Given the description of an element on the screen output the (x, y) to click on. 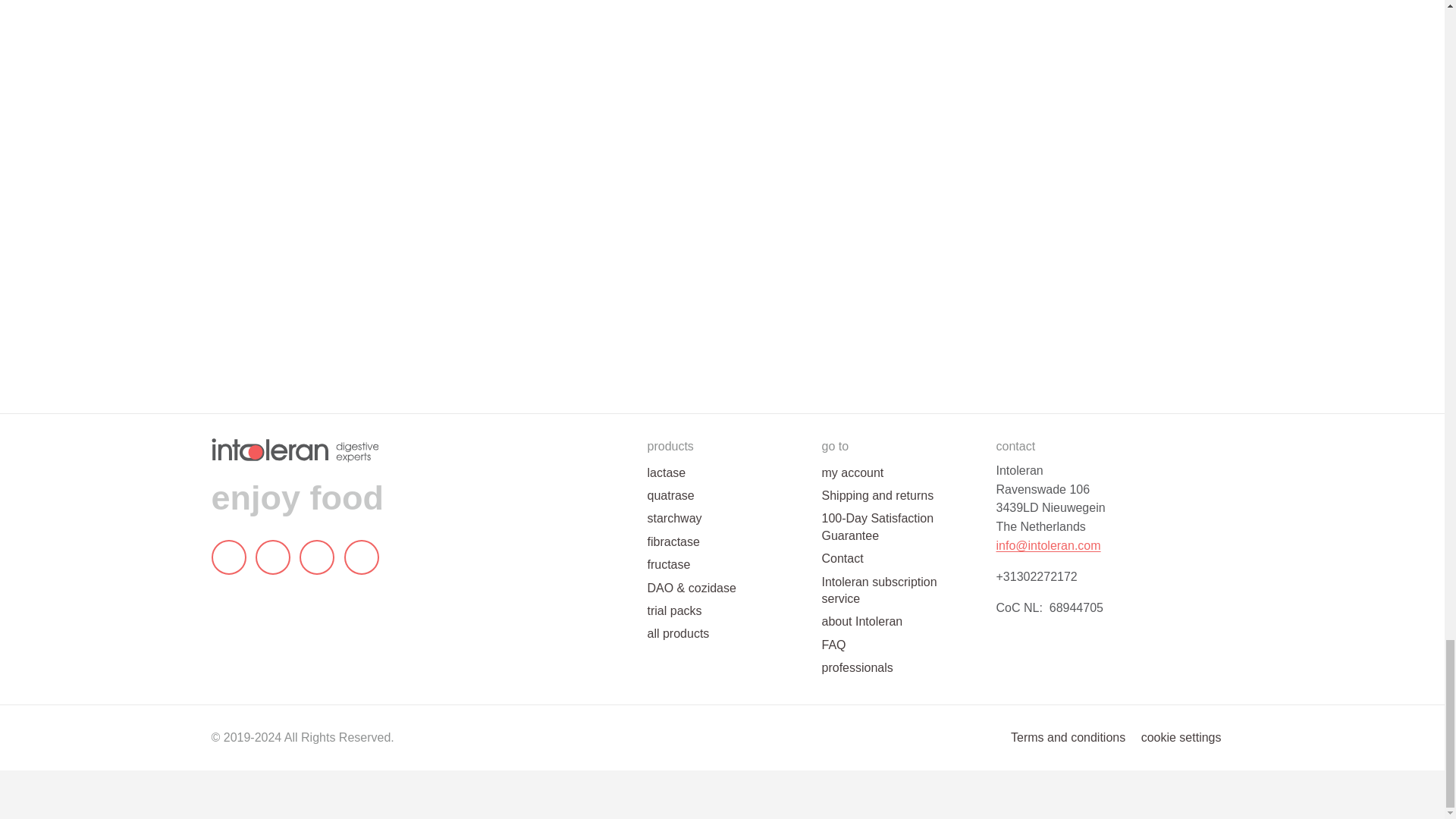
Follow us (316, 556)
Follow us (272, 556)
Follow us (228, 556)
Follow us (360, 556)
